Given the description of an element on the screen output the (x, y) to click on. 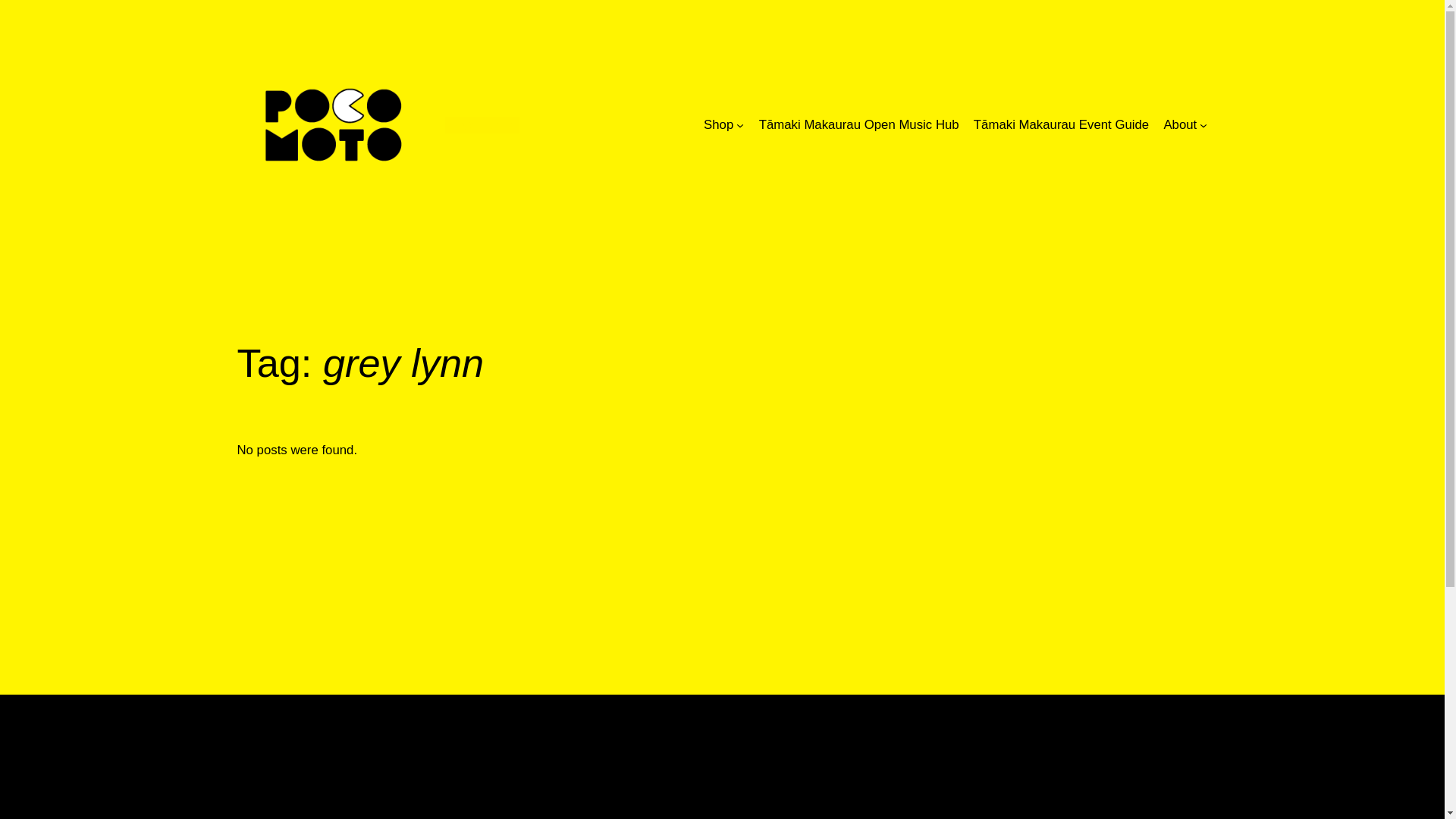
Shop (718, 125)
Poco Moto (481, 124)
About (1179, 125)
